Given the description of an element on the screen output the (x, y) to click on. 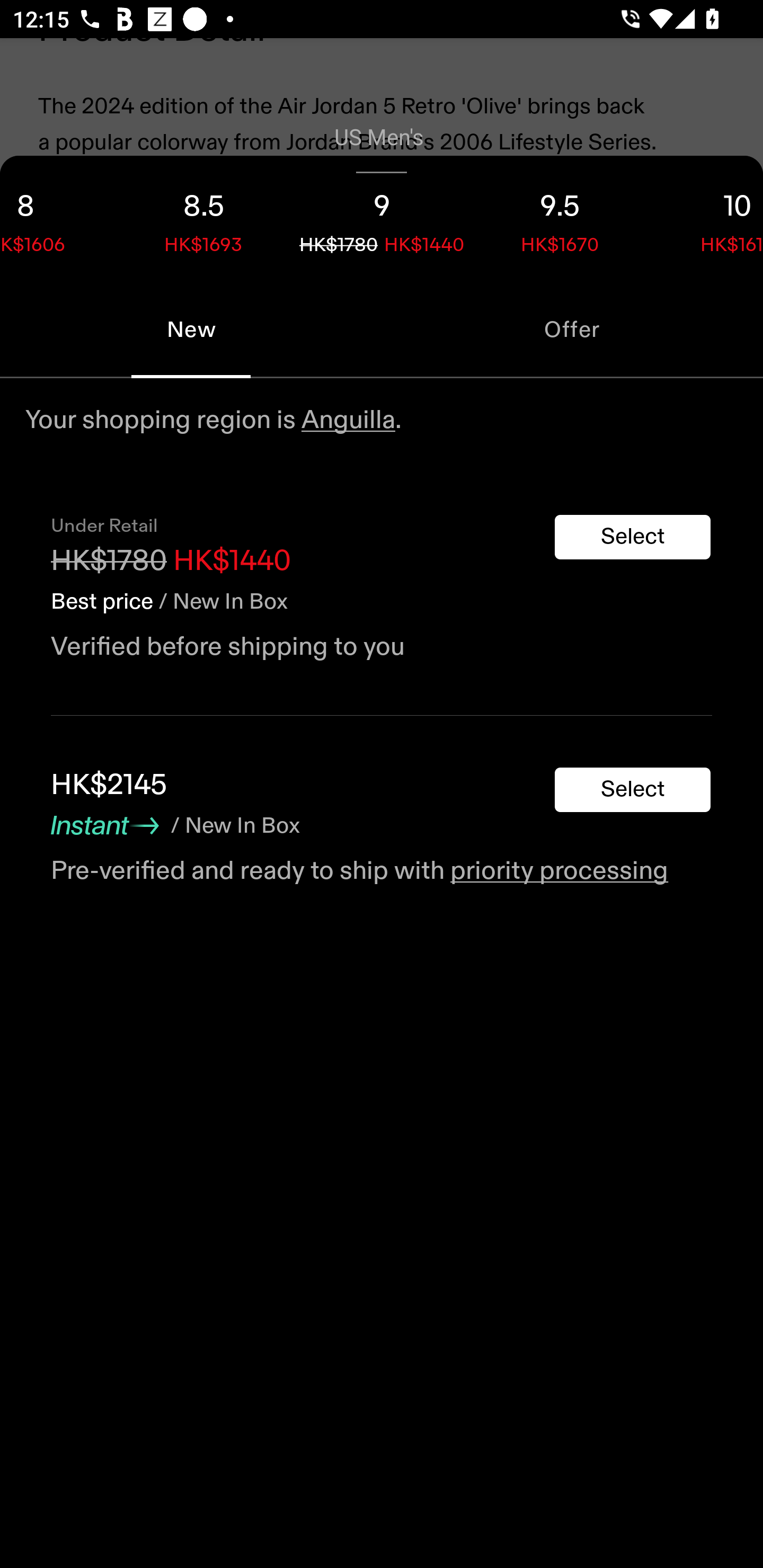
8 HK$1606 (57, 218)
8.5 HK$1693 (203, 218)
9 HK$1780 HK$1440 (381, 218)
9.5 HK$1670 (559, 218)
10 HK$1614 (705, 218)
Offer (572, 329)
Select (632, 536)
HK$2145 (109, 785)
Select (632, 789)
